Given the description of an element on the screen output the (x, y) to click on. 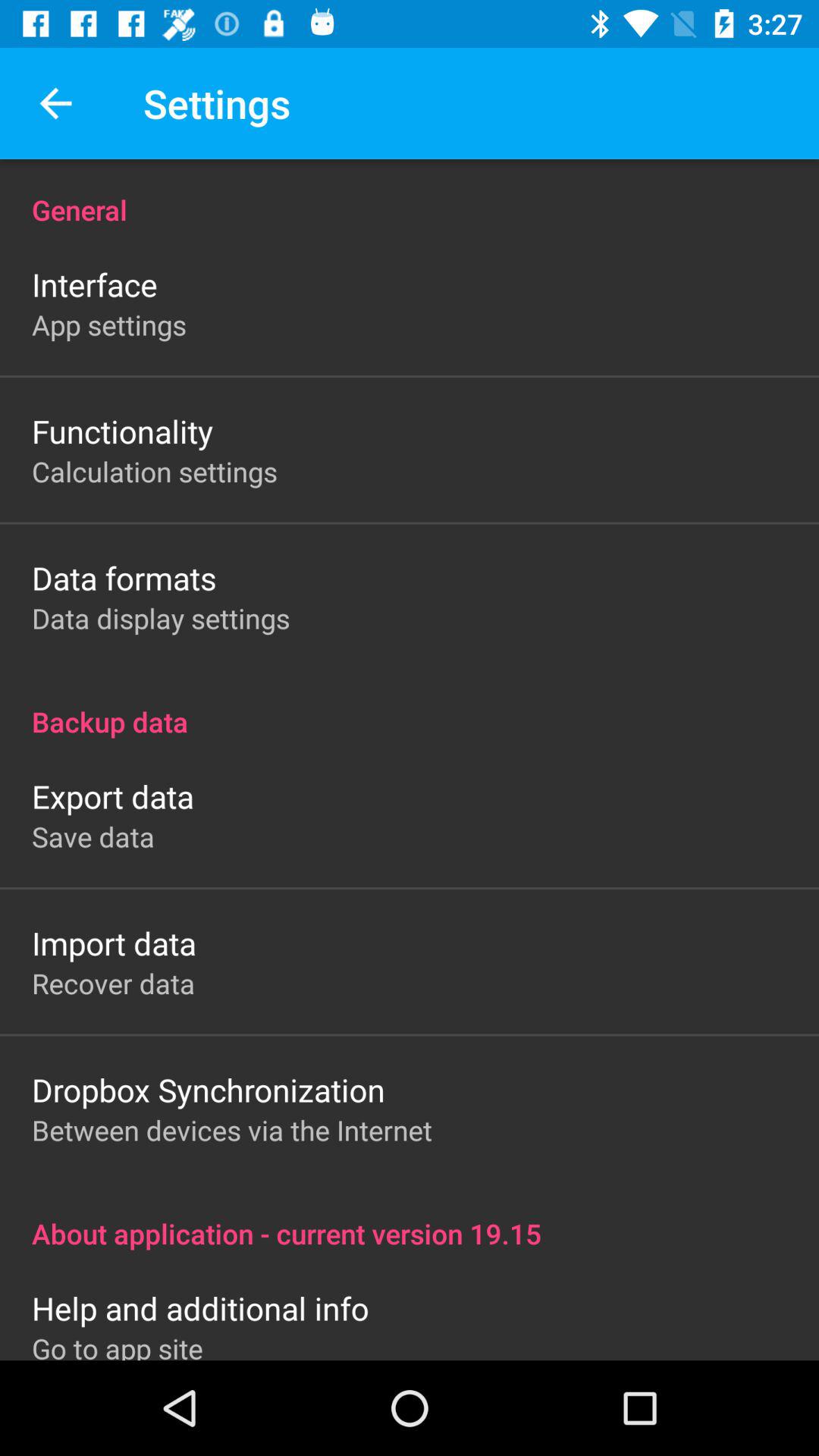
open icon below the dropbox synchronization item (231, 1129)
